Given the description of an element on the screen output the (x, y) to click on. 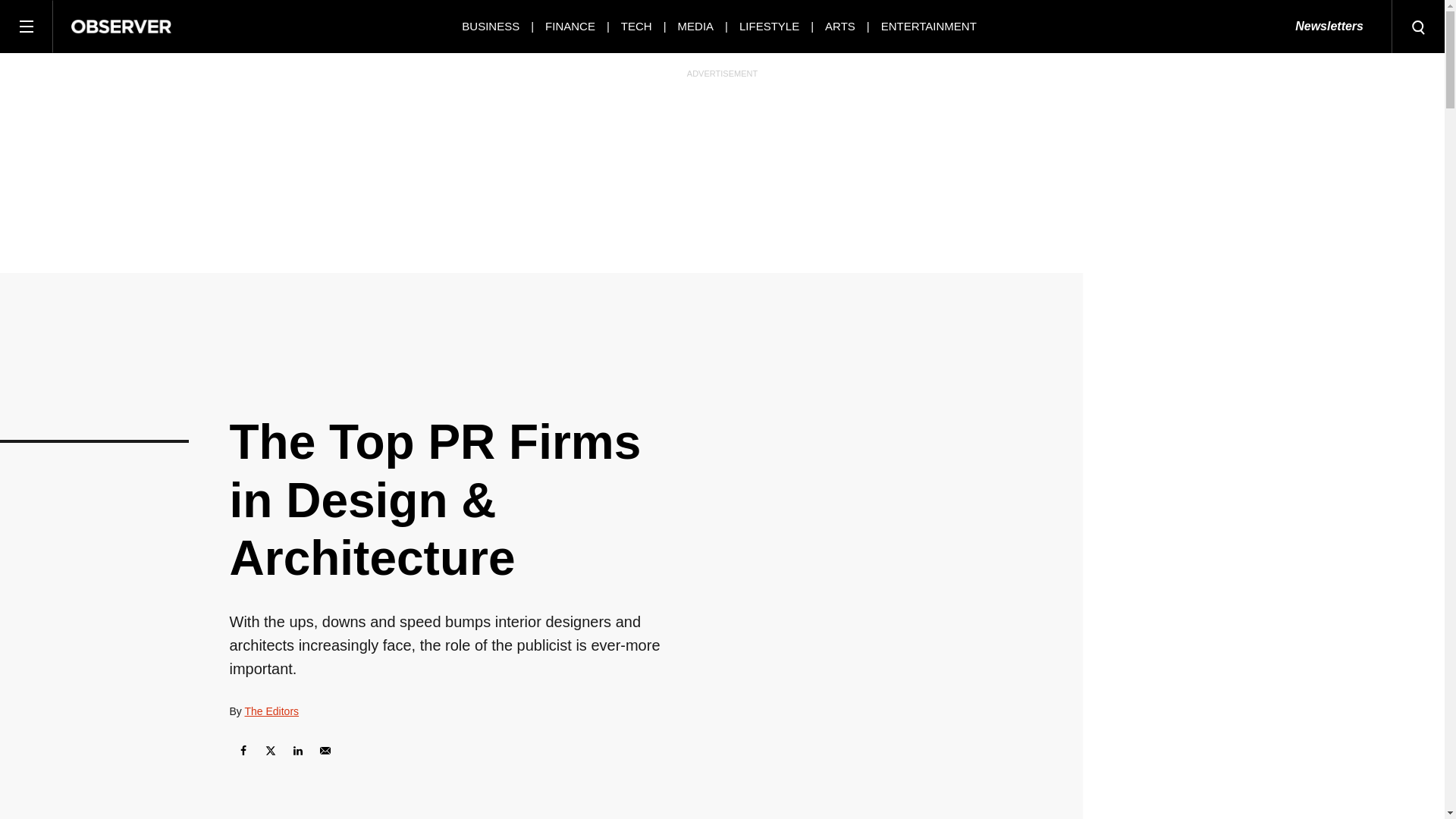
Observer (121, 26)
TECH (636, 25)
Share on LinkedIn (297, 750)
MEDIA (696, 25)
Share on Facebook (242, 750)
Send email (324, 750)
ENTERTAINMENT (928, 25)
FINANCE (569, 25)
View All Posts by The Editors (271, 711)
BUSINESS (490, 25)
Newsletters (1329, 26)
Tweet (269, 750)
ARTS (840, 25)
LIFESTYLE (769, 25)
